Given the description of an element on the screen output the (x, y) to click on. 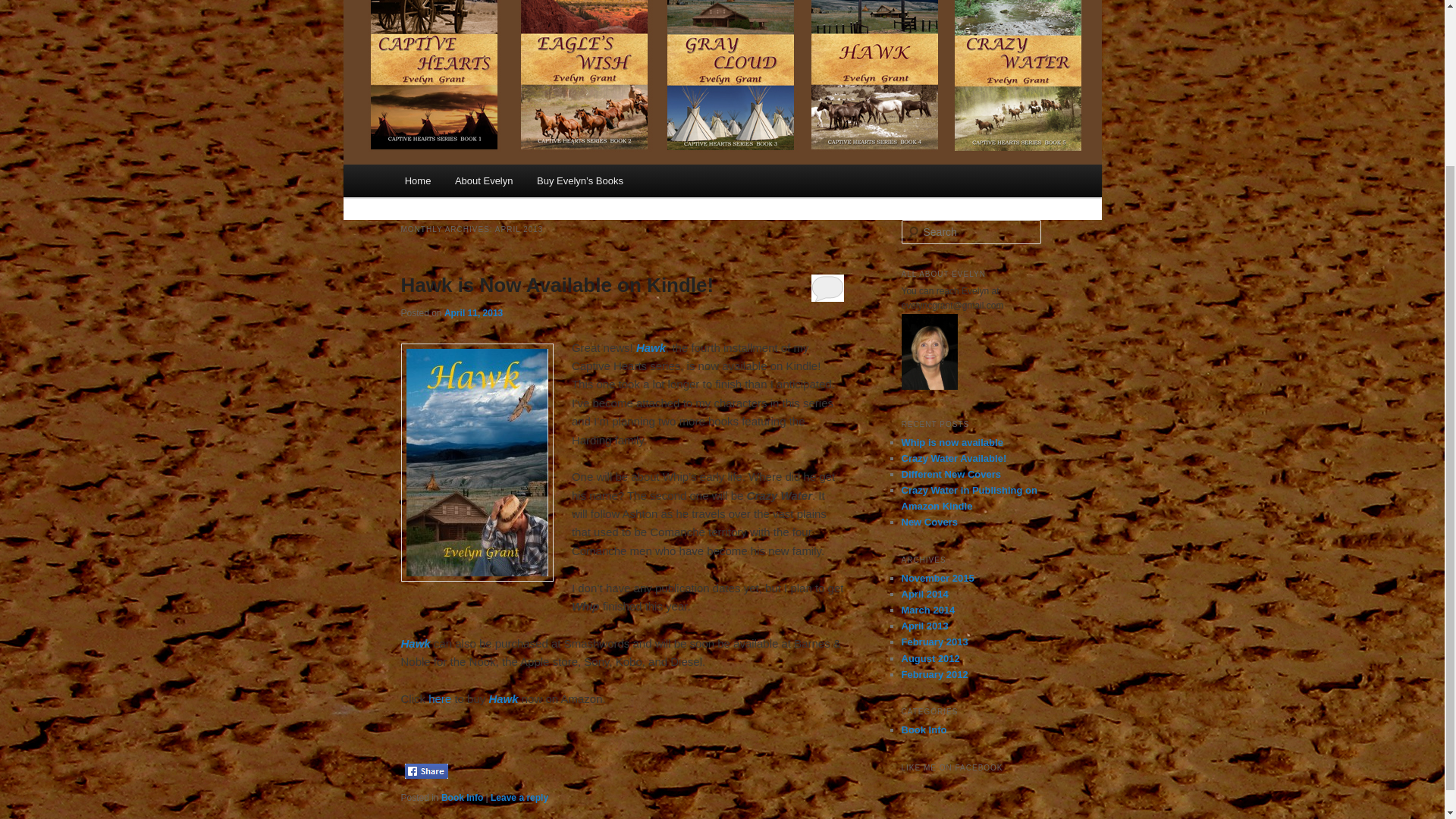
Home (417, 180)
Crazy Water Available! (953, 458)
Different New Covers (950, 473)
8:46 am (473, 312)
Here (441, 698)
Skip to primary content (472, 183)
Skip to primary content (472, 183)
April 2013 (924, 625)
About Evelyn (483, 180)
New Covers (928, 521)
